Given the description of an element on the screen output the (x, y) to click on. 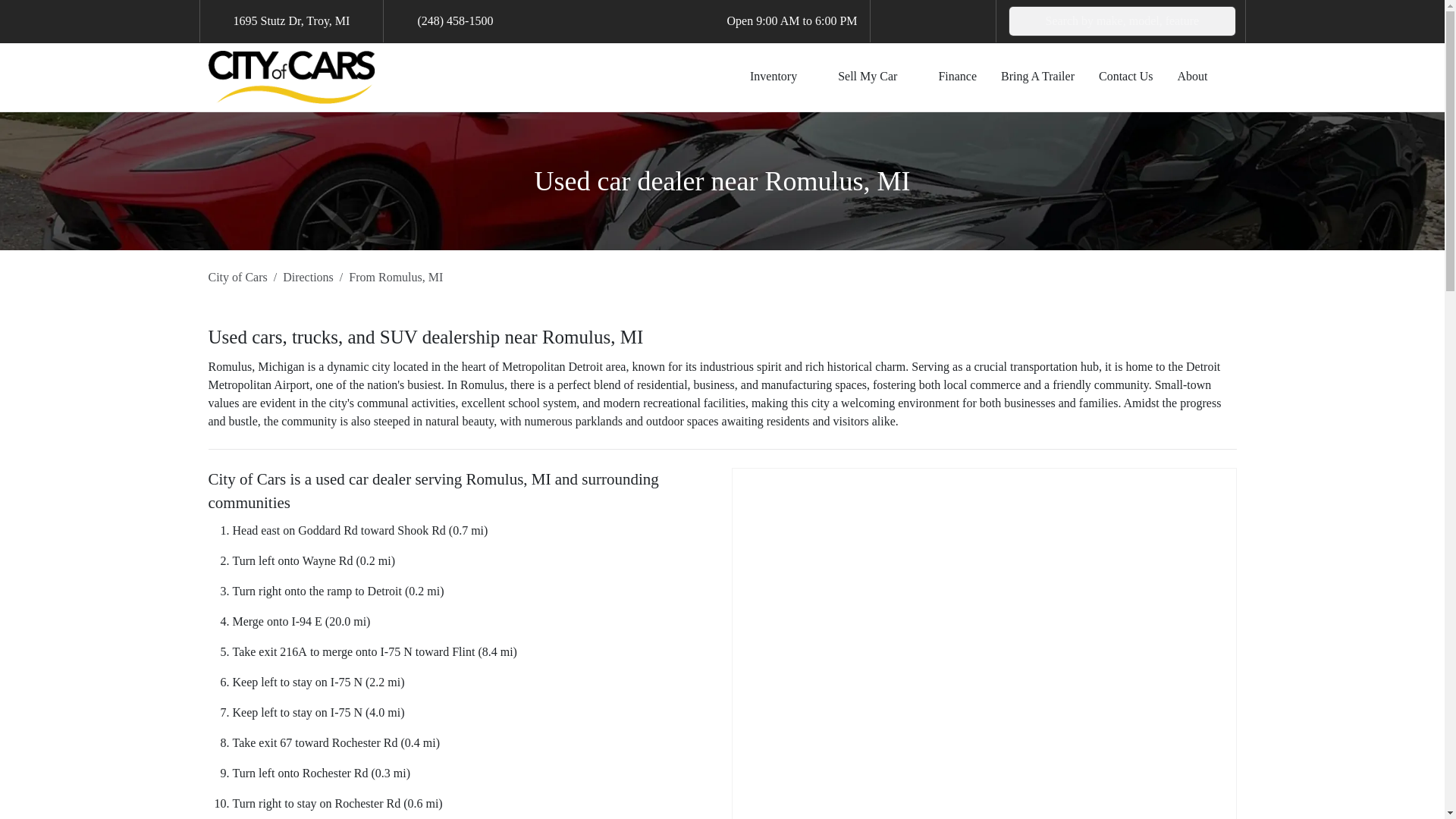
Finance (956, 75)
Bring A Trailer (1037, 75)
City of Cars (237, 277)
City of Cars (237, 277)
Contact Us (1126, 75)
Directions (307, 277)
Contact Us (1126, 75)
Bring A Trailer (1037, 75)
Finance (956, 75)
Directions to City of Cars (307, 277)
